Given the description of an element on the screen output the (x, y) to click on. 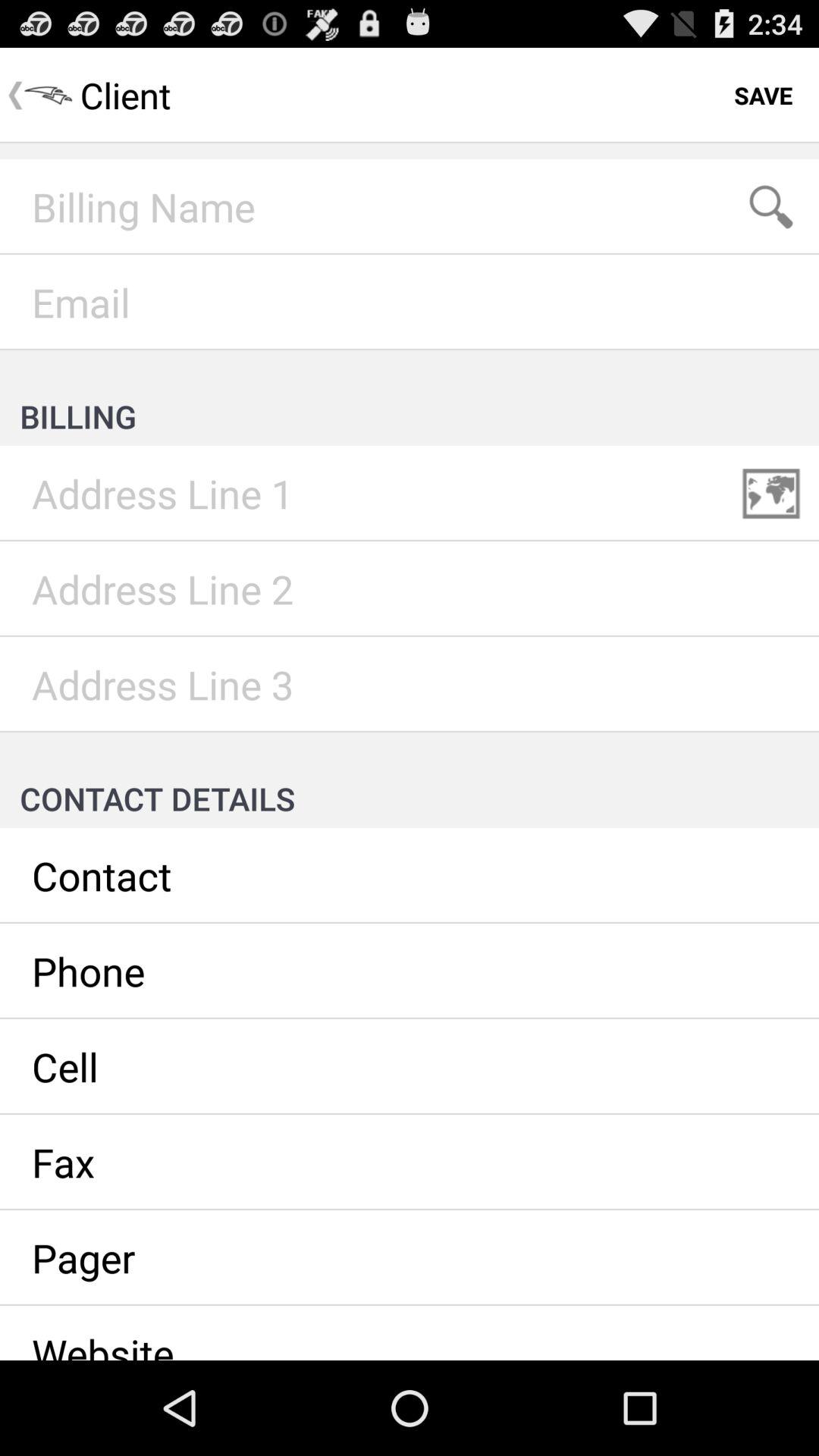
edit contact (409, 875)
